Given the description of an element on the screen output the (x, y) to click on. 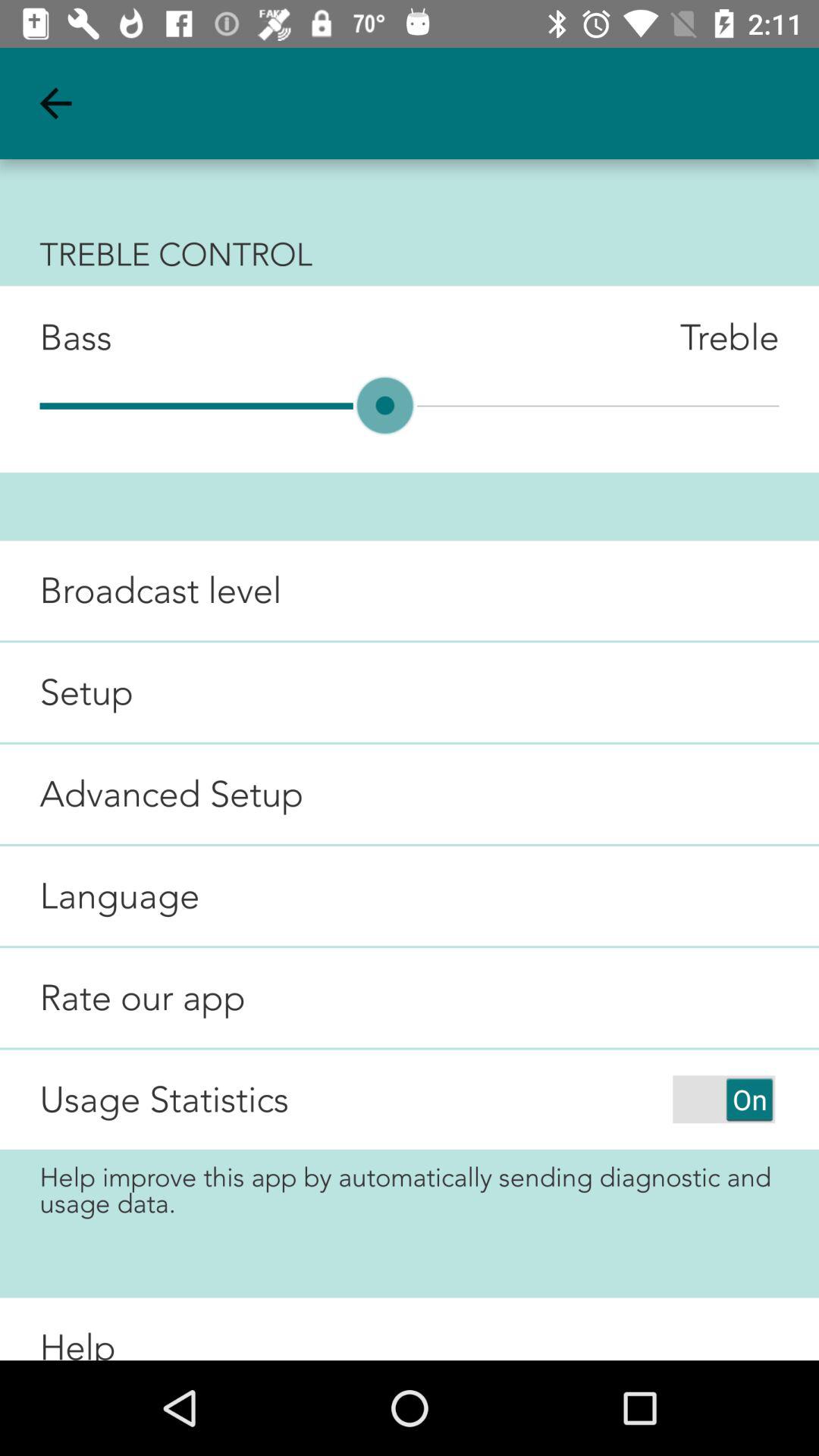
open item at the bottom right corner (723, 1099)
